Given the description of an element on the screen output the (x, y) to click on. 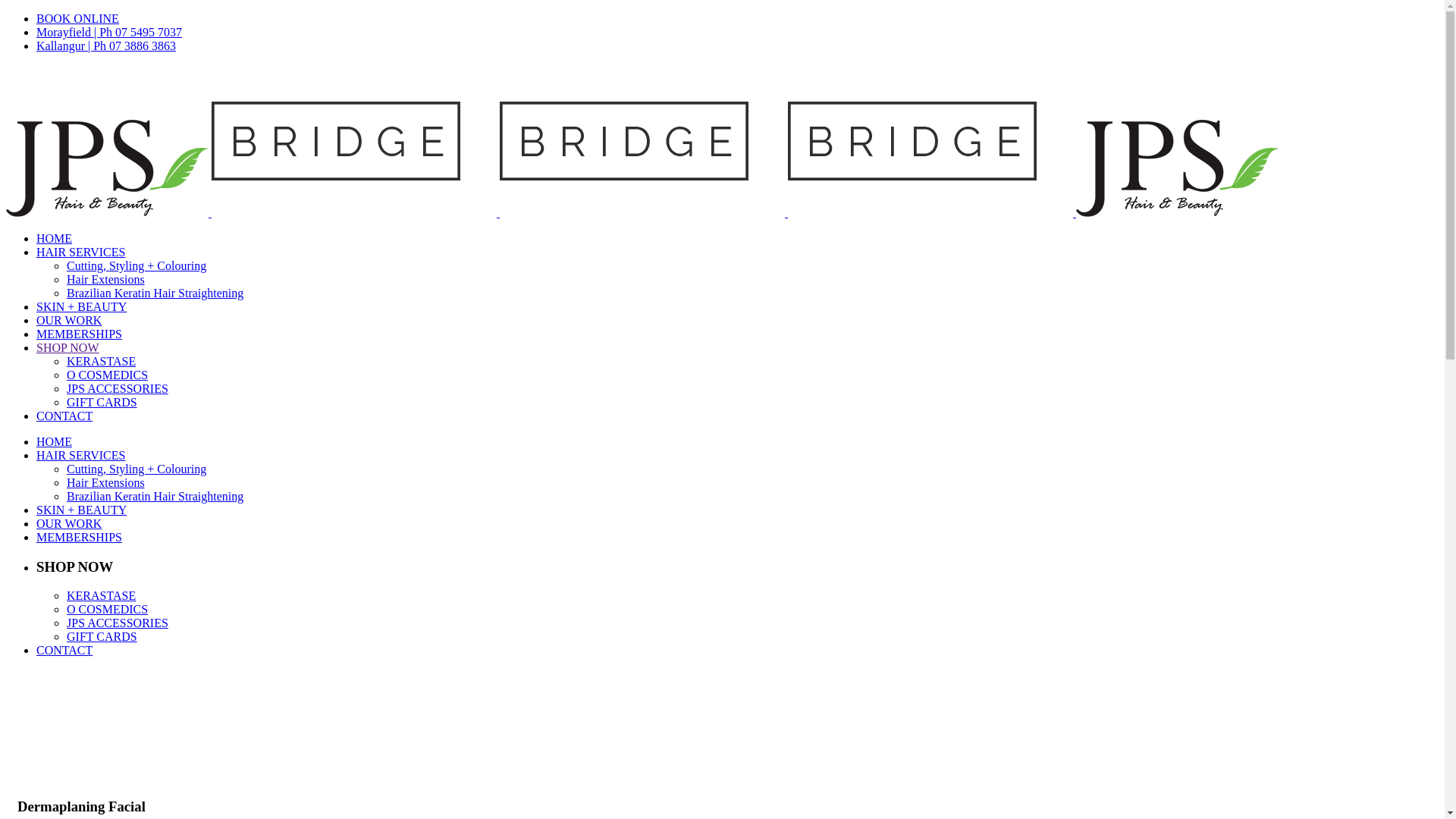
HOME Element type: text (54, 441)
HAIR SERVICES Element type: text (80, 251)
JPS ACCESSORIES Element type: text (117, 388)
Morayfield | Ph 07 5495 7037 Element type: text (109, 31)
CONTACT Element type: text (64, 649)
MEMBERSHIPS Element type: text (79, 536)
KERASTASE Element type: text (100, 595)
HOME Element type: text (54, 238)
Brazilian Keratin Hair Straightening Element type: text (154, 292)
SHOP NOW Element type: text (67, 347)
SKIN + BEAUTY Element type: text (81, 306)
Hair Extensions Element type: text (105, 482)
O COSMEDICS Element type: text (106, 608)
Cutting, Styling + Colouring Element type: text (136, 468)
JPS ACCESSORIES Element type: text (117, 622)
Kallangur | Ph 07 3886 3863 Element type: text (105, 45)
Hair Extensions Element type: text (105, 279)
MEMBERSHIPS Element type: text (79, 333)
GIFT CARDS Element type: text (101, 401)
GIFT CARDS Element type: text (101, 636)
SKIN + BEAUTY Element type: text (81, 509)
CONTACT Element type: text (64, 415)
BOOK ONLINE Element type: text (77, 18)
Brazilian Keratin Hair Straightening Element type: text (154, 495)
O COSMEDICS Element type: text (106, 374)
Cutting, Styling + Colouring Element type: text (136, 265)
HAIR SERVICES Element type: text (80, 454)
OUR WORK Element type: text (68, 319)
OUR WORK Element type: text (68, 523)
KERASTASE Element type: text (100, 360)
